Given the description of an element on the screen output the (x, y) to click on. 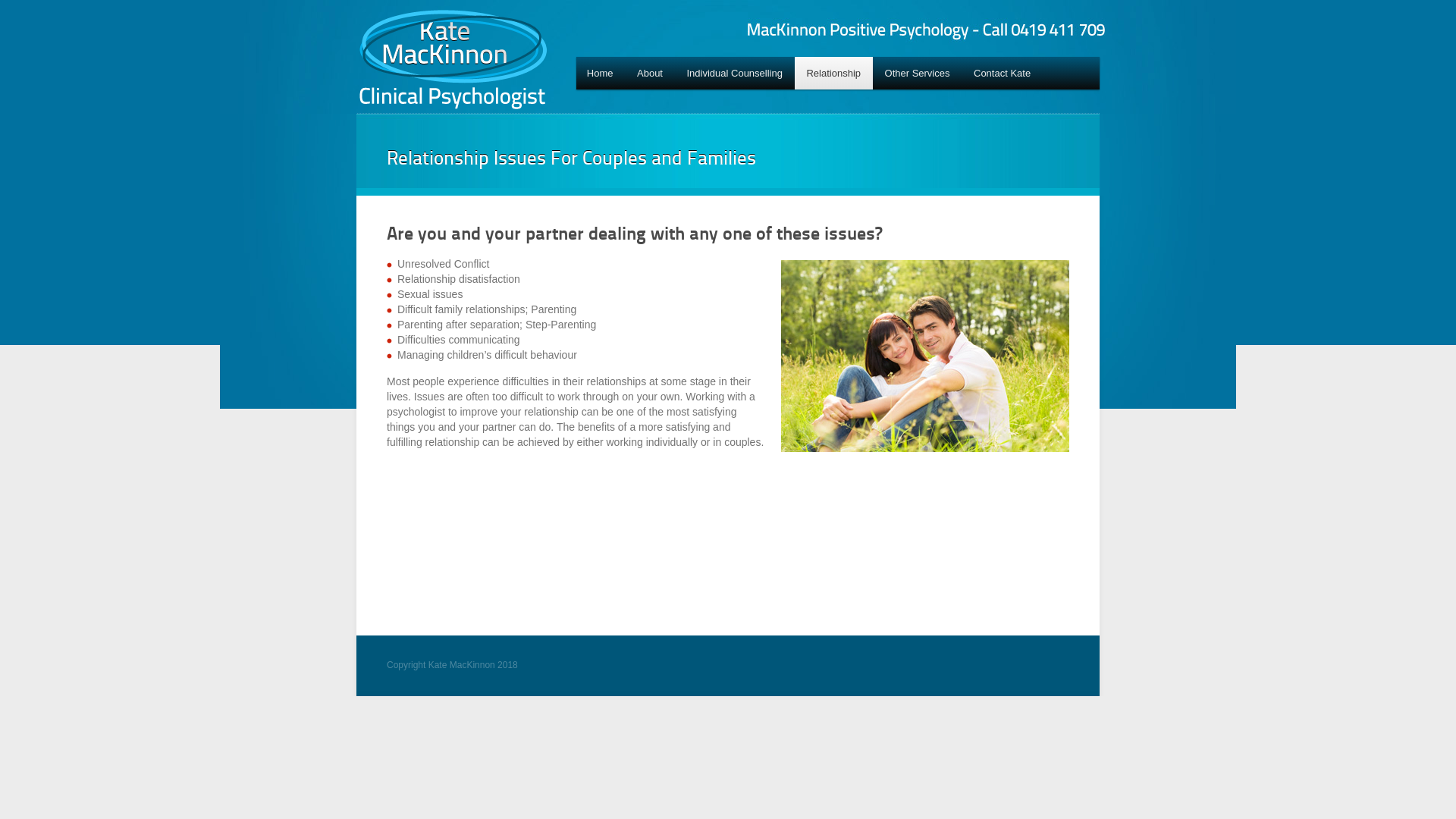
Relationships Element type: hover (925, 355)
Other Services Element type: text (916, 72)
Home Element type: text (599, 72)
Individual Counselling Element type: text (734, 72)
About Element type: text (649, 72)
Contact Kate Element type: text (1001, 72)
Relationship Element type: text (833, 72)
